Given the description of an element on the screen output the (x, y) to click on. 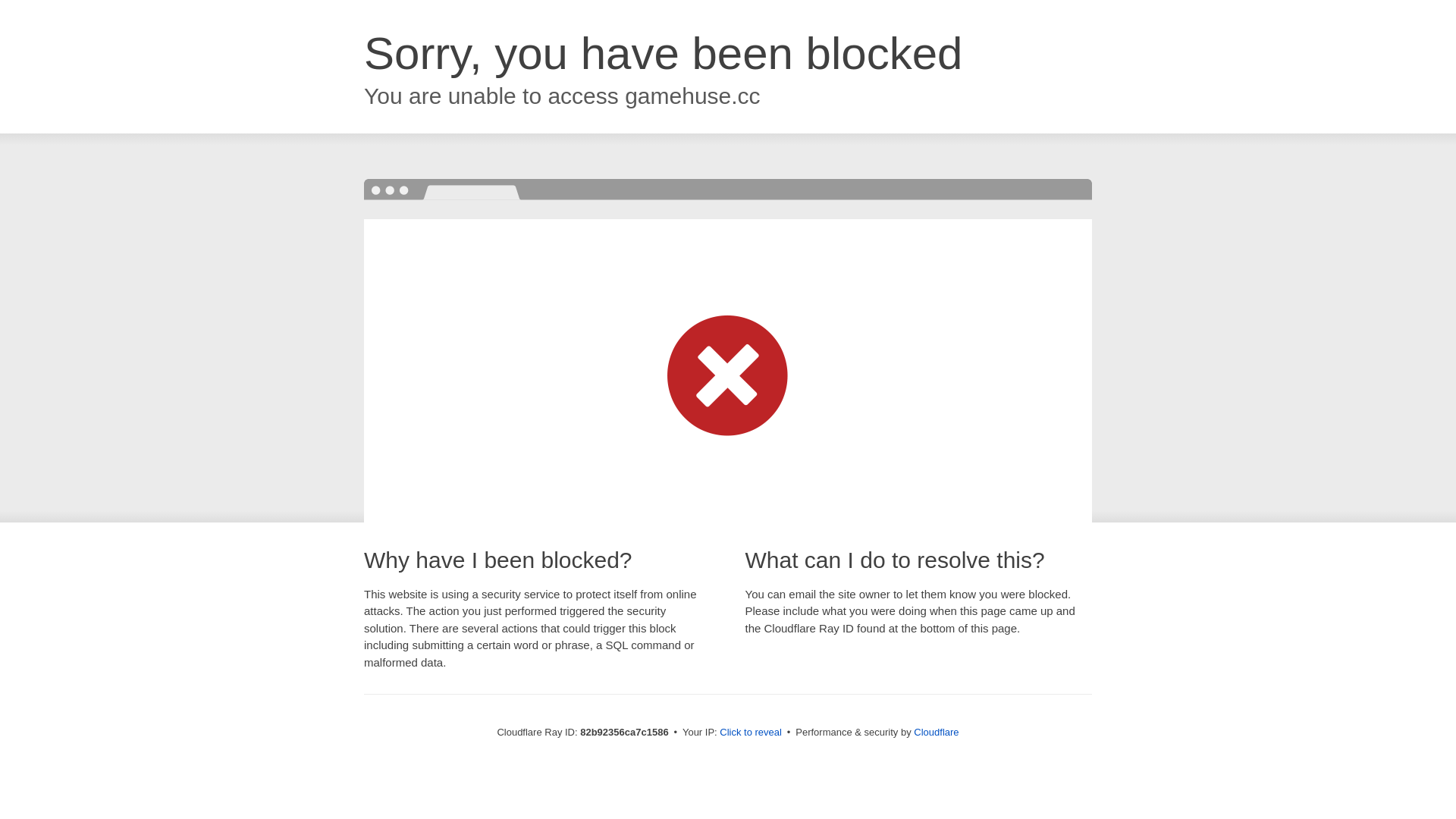
Click to reveal Element type: text (750, 732)
Cloudflare Element type: text (935, 731)
